Given the description of an element on the screen output the (x, y) to click on. 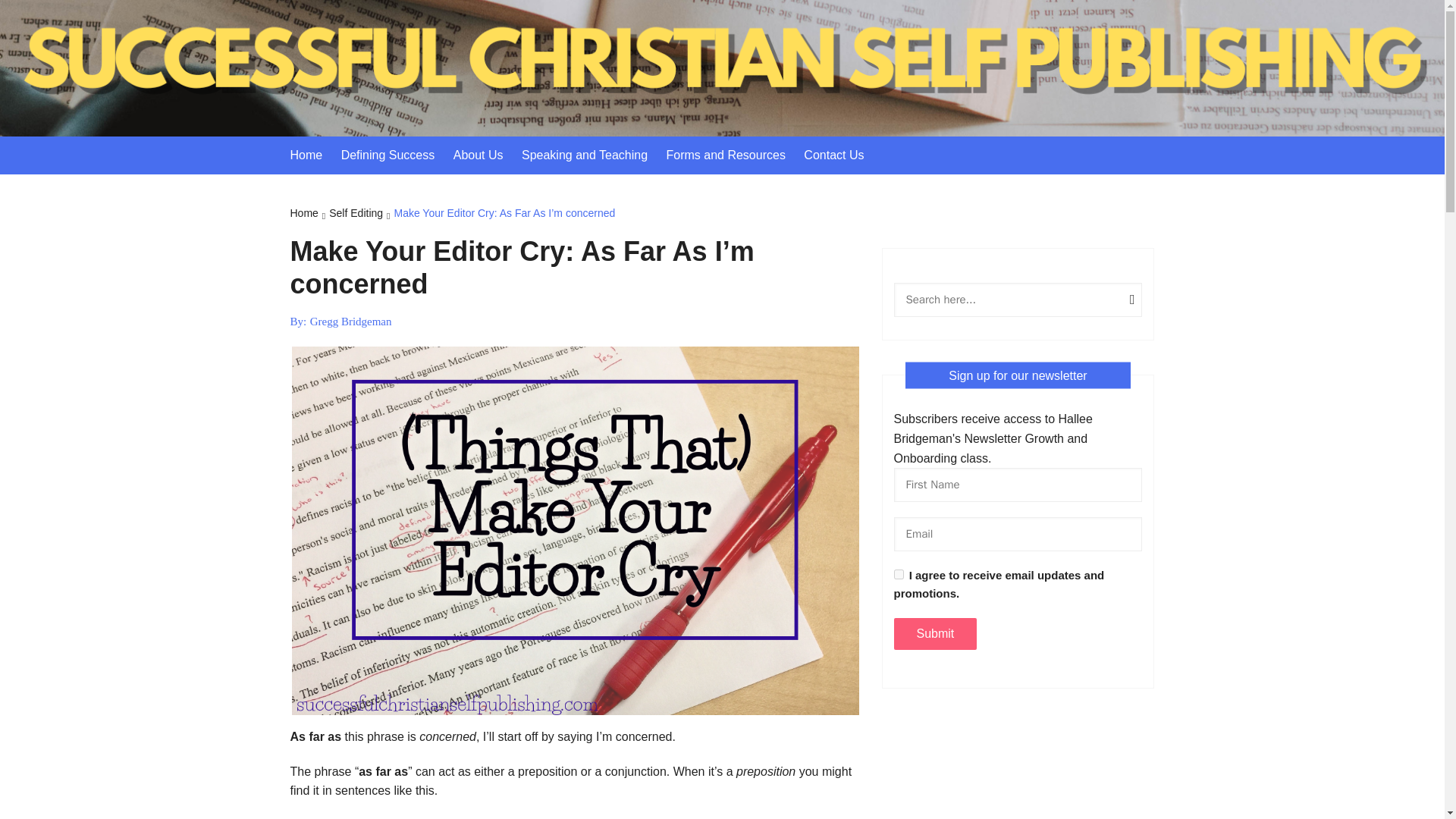
About Us (485, 155)
1 (897, 574)
Home (309, 214)
Self Editing (361, 214)
Forms and Resources (732, 155)
Home (313, 155)
Contact Us (841, 155)
Speaking and Teaching (591, 155)
Defining Success (394, 155)
Successful Christian Self-Publishing (567, 85)
